Given the description of an element on the screen output the (x, y) to click on. 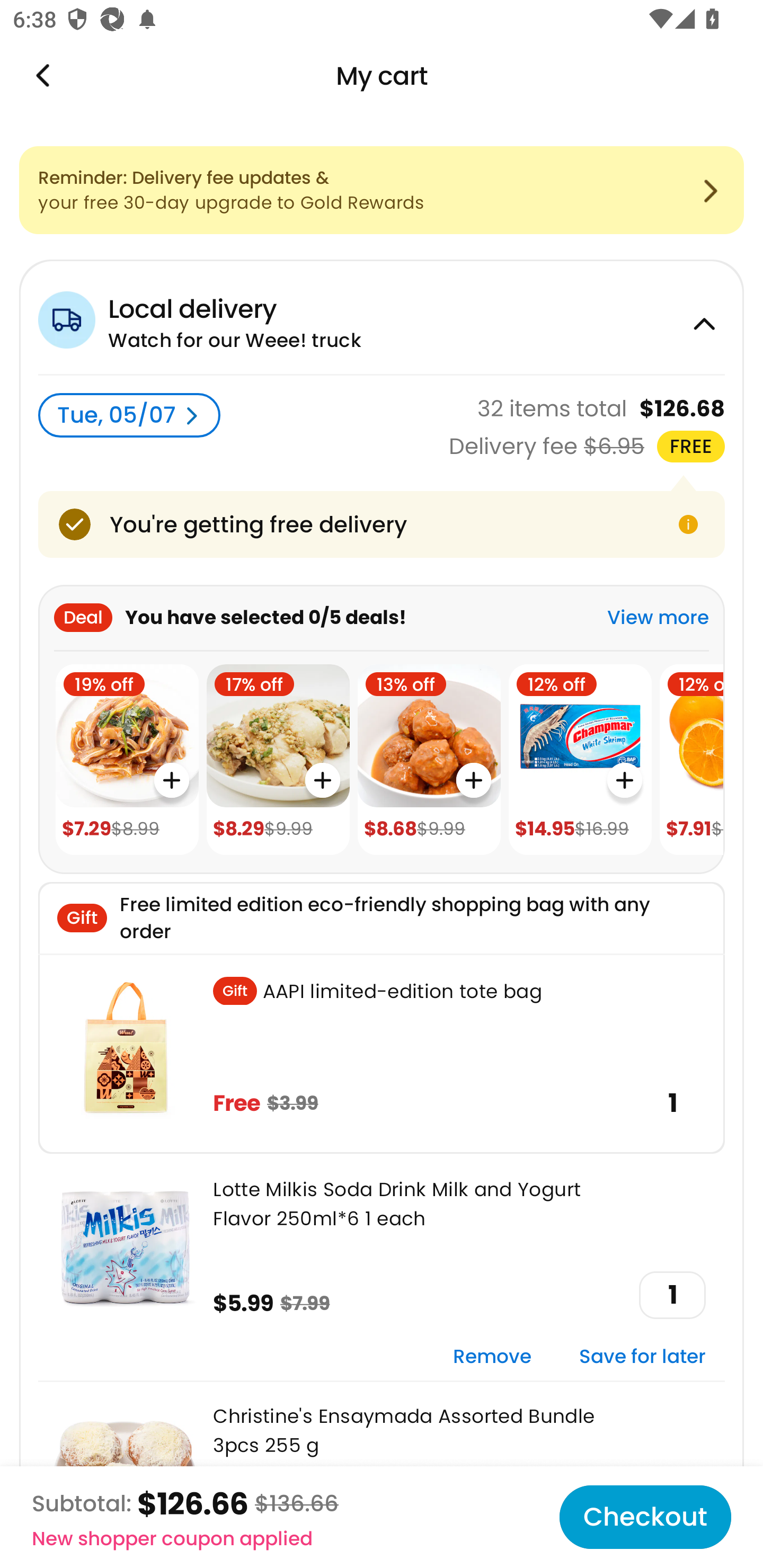
Local delivery Watch for our Weee! truck (381, 317)
Tue, 05/07 (129, 415)
You're getting free delivery (381, 524)
19% off $7.29 $8.99 (126, 759)
17% off $8.29 $9.99 (277, 759)
13% off $8.68 $9.99 (428, 759)
12% off $14.95 $16.99 (579, 759)
. AAPI limited-edition tote bag Free $3.99 1 (381, 1053)
1 (672, 1294)
Remove (491, 1356)
Save for later (642, 1356)
Checkout (644, 1516)
